Given the description of an element on the screen output the (x, y) to click on. 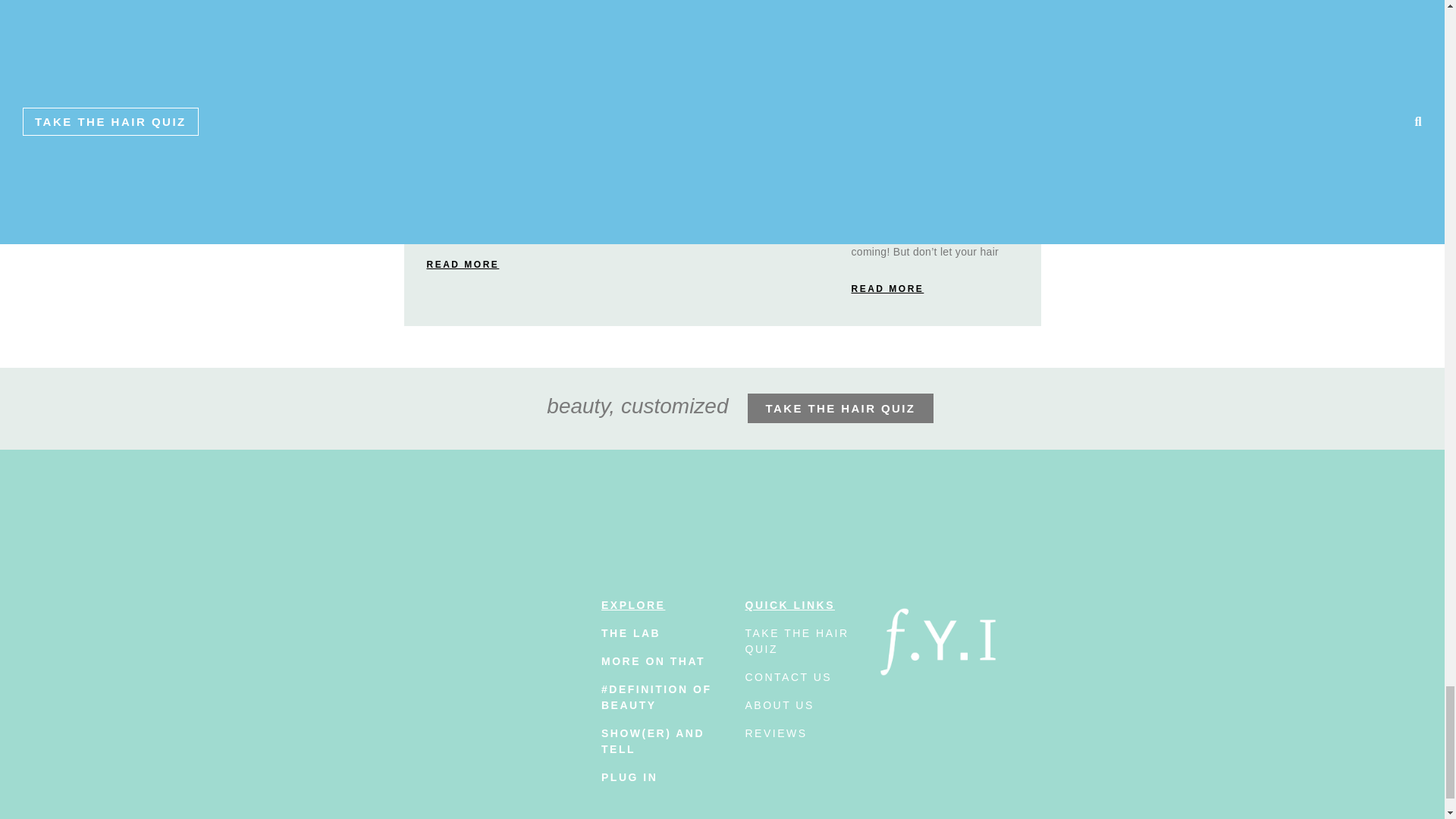
PLUG IN (629, 776)
Find The Best Treatment Product For Your Hair Type (496, 149)
MORE ON THAT (652, 661)
TAKE THE HAIR QUIZ (841, 408)
READ MORE (886, 288)
TAKE THE HAIR QUIZ (796, 641)
READ MORE (462, 264)
How We Function (705, 125)
THE LAB (631, 633)
READ MORE (675, 216)
CONTACT US (787, 676)
